Given the description of an element on the screen output the (x, y) to click on. 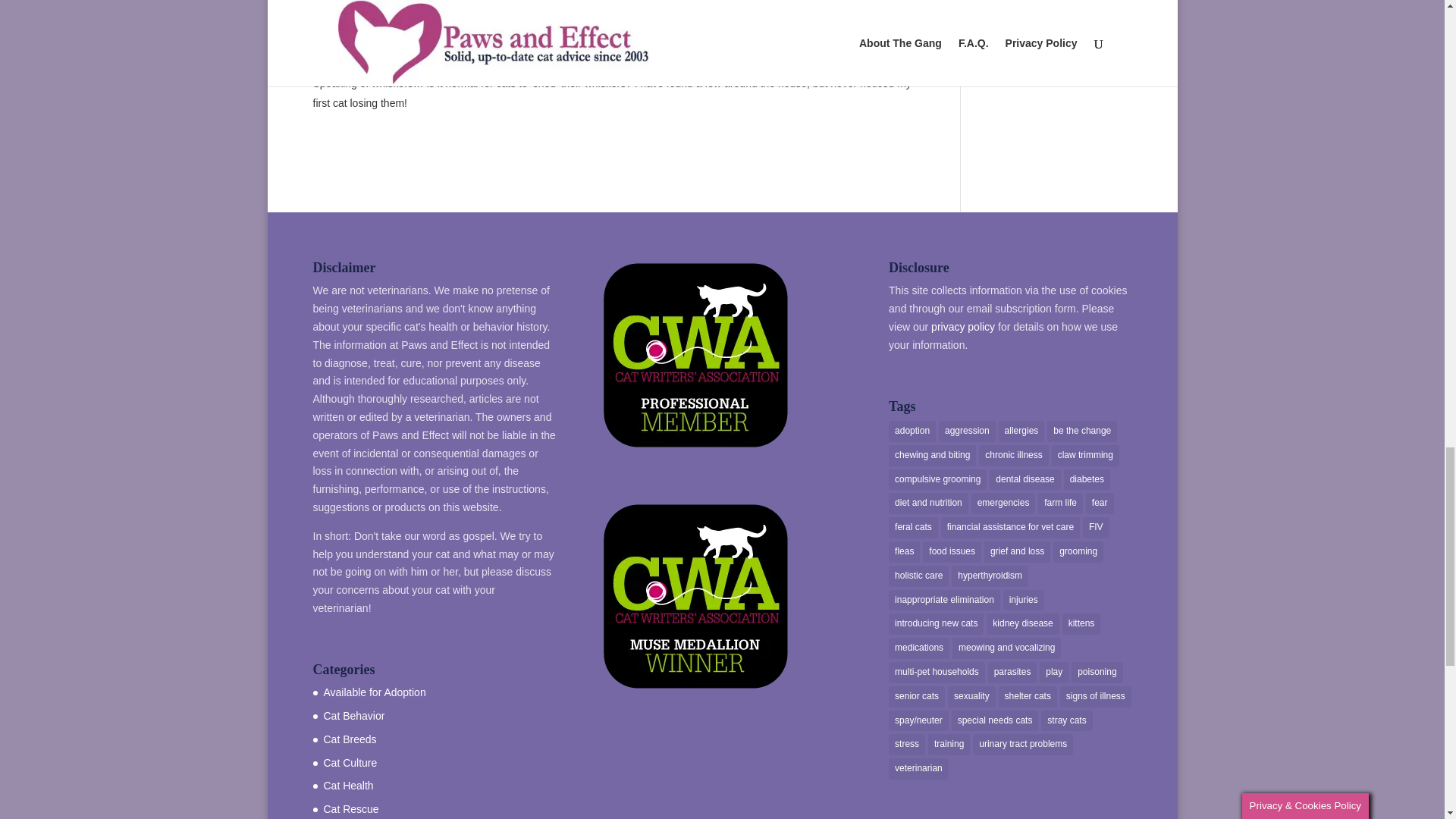
Cat Culture (350, 762)
Cat Rescue (350, 808)
Cat Behavior (353, 715)
Cat Breeds (349, 739)
Available for Adoption (374, 692)
Cat Health (347, 785)
